Given the description of an element on the screen output the (x, y) to click on. 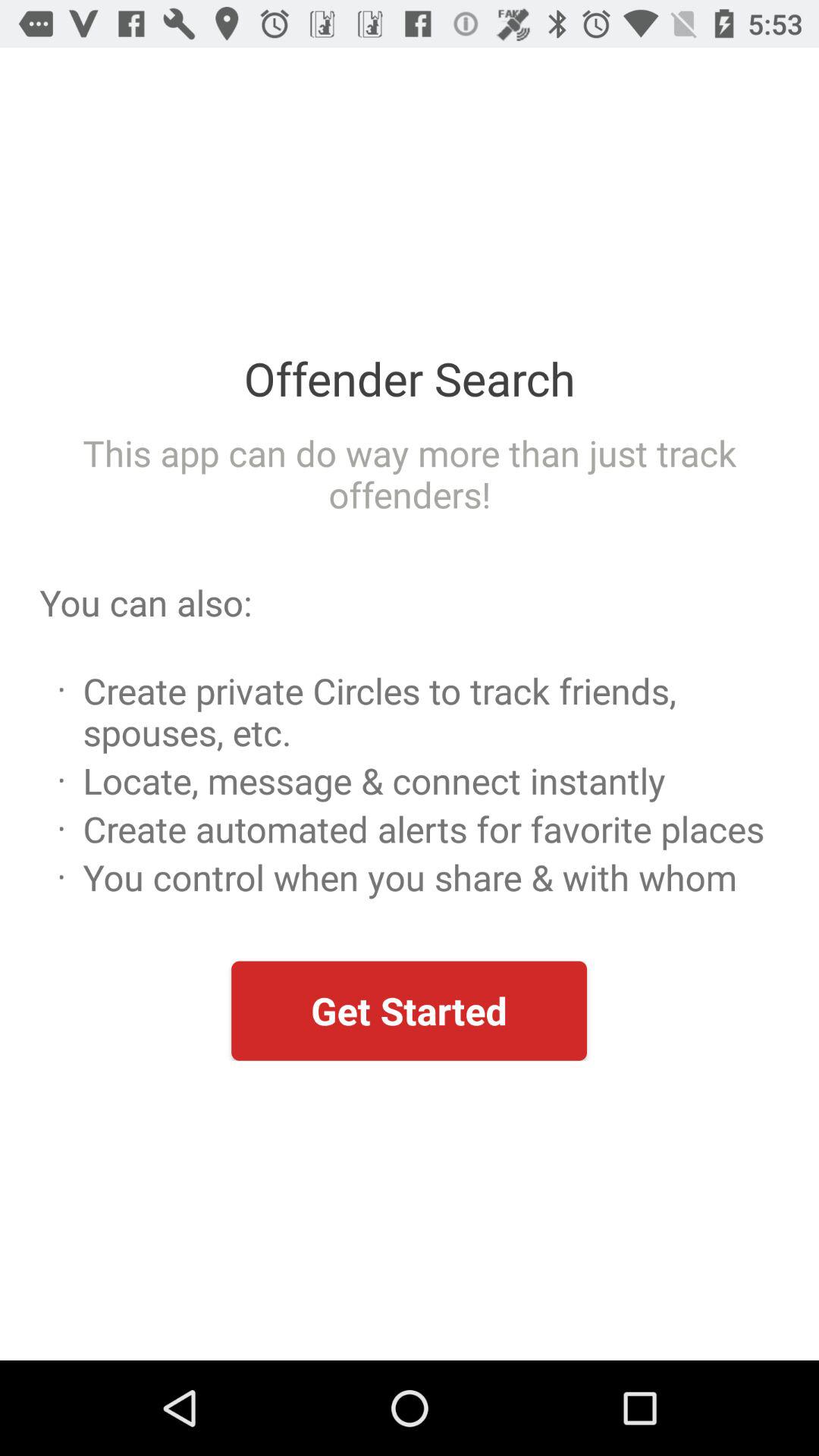
select icon below you control when (408, 1010)
